Given the description of an element on the screen output the (x, y) to click on. 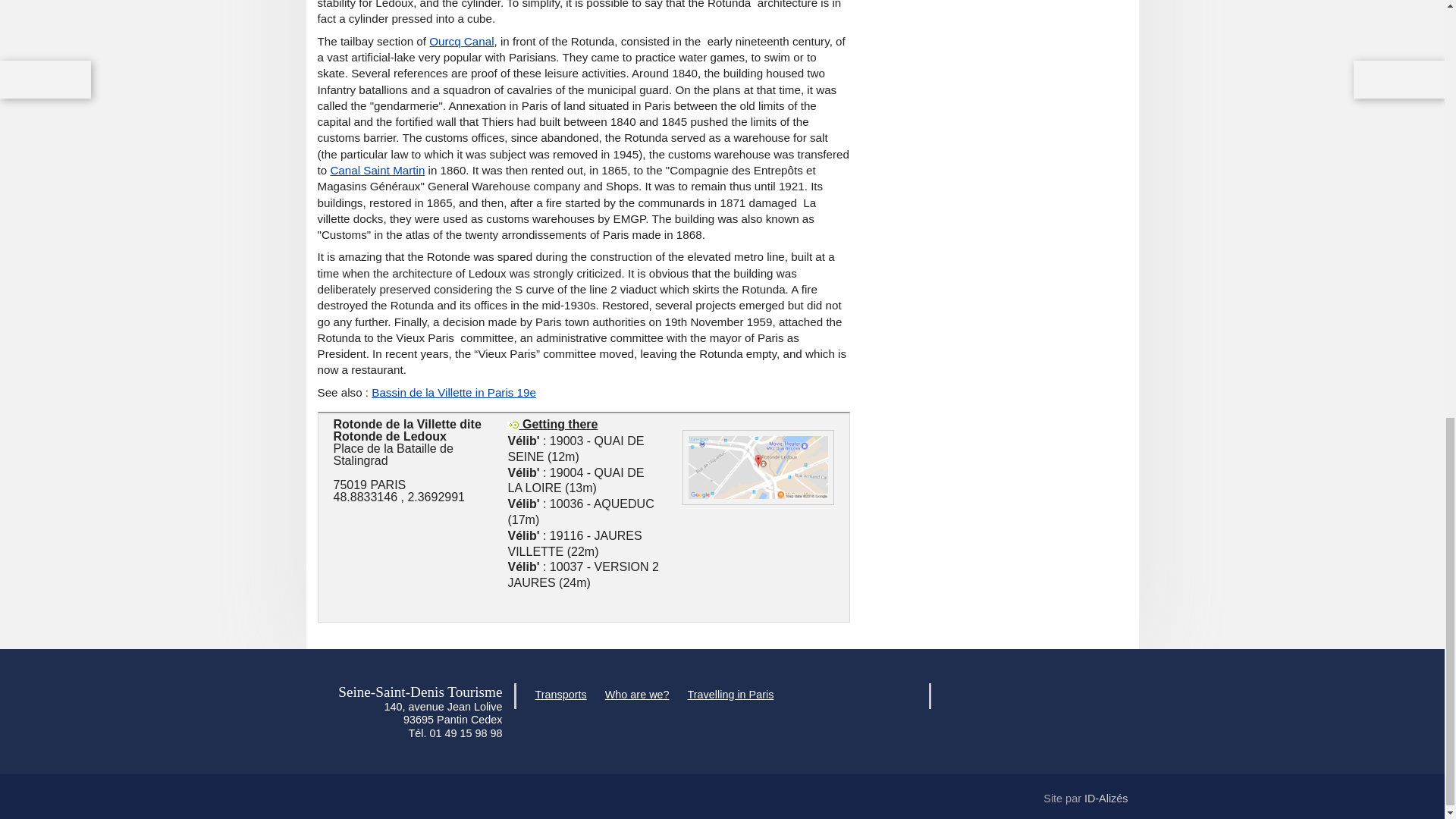
2.3692991 (435, 496)
48.8833146 (365, 496)
